Given the description of an element on the screen output the (x, y) to click on. 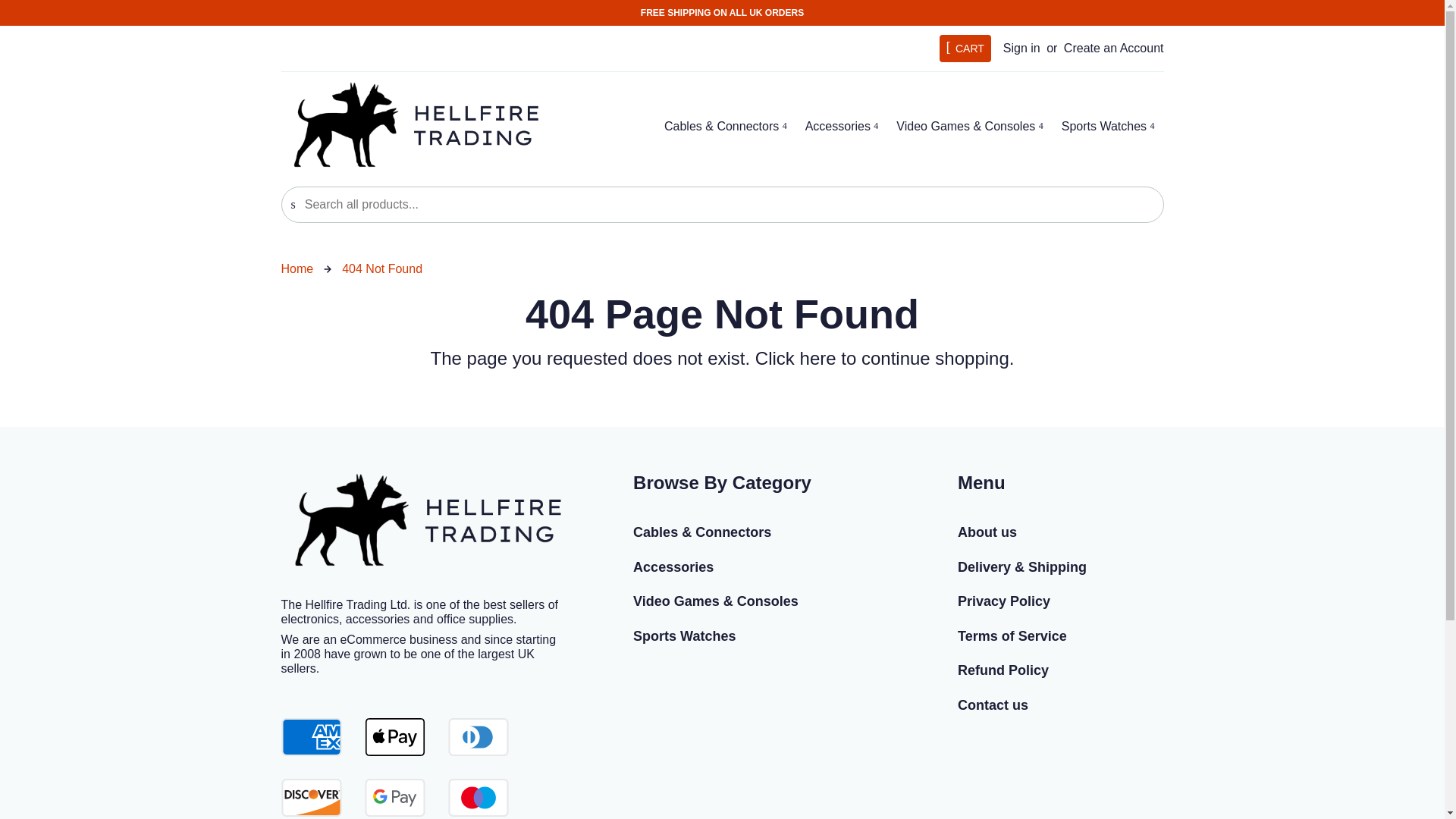
Apple Pay (394, 736)
Maestro (477, 797)
Diners Club (477, 736)
American Express (310, 736)
Back to the frontpage (297, 269)
CART (965, 48)
Sign in (1022, 47)
Create an Account (1113, 47)
Google Pay (394, 797)
Discover (310, 797)
